Given the description of an element on the screen output the (x, y) to click on. 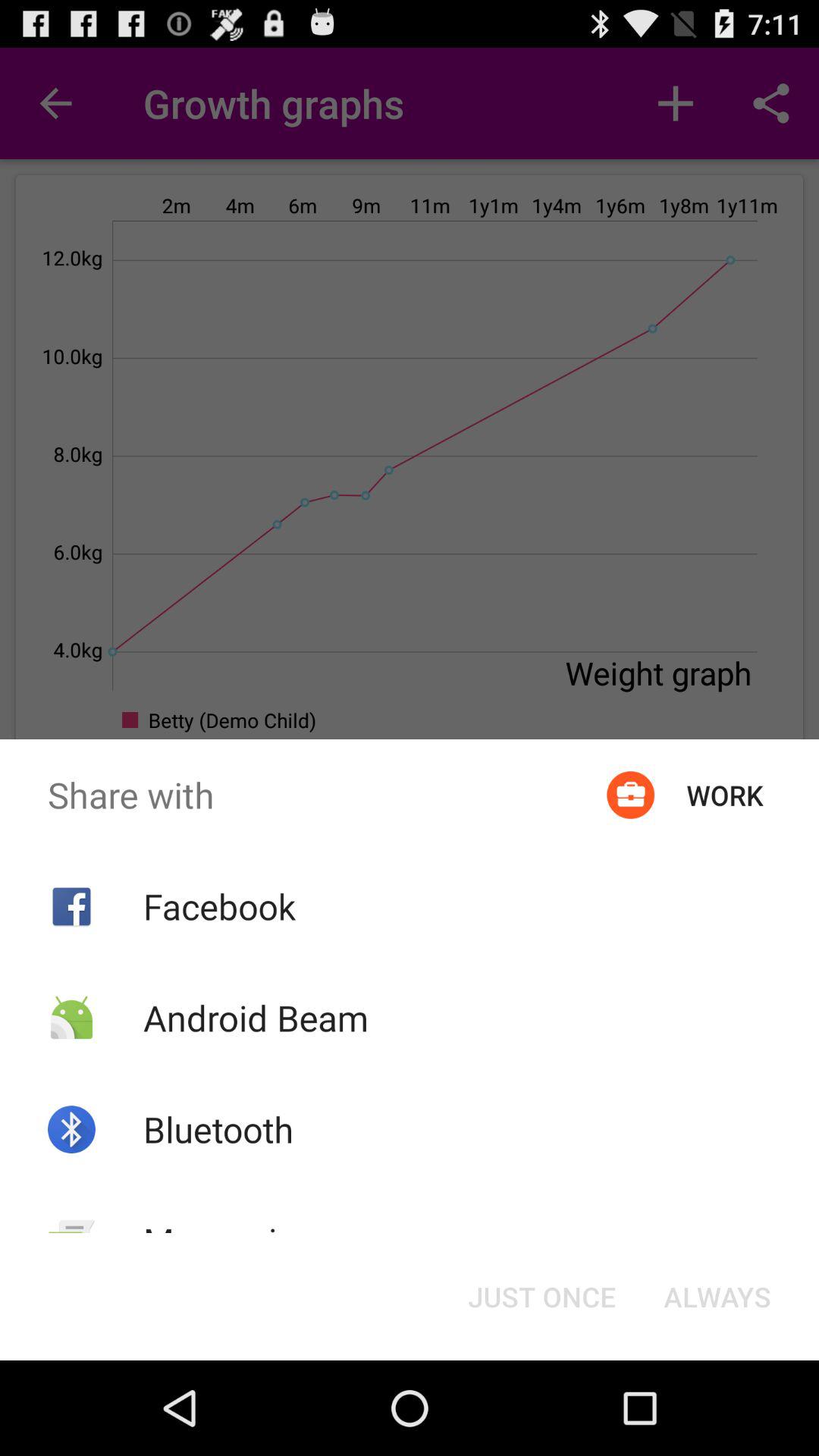
choose the item next to the just once icon (717, 1296)
